Given the description of an element on the screen output the (x, y) to click on. 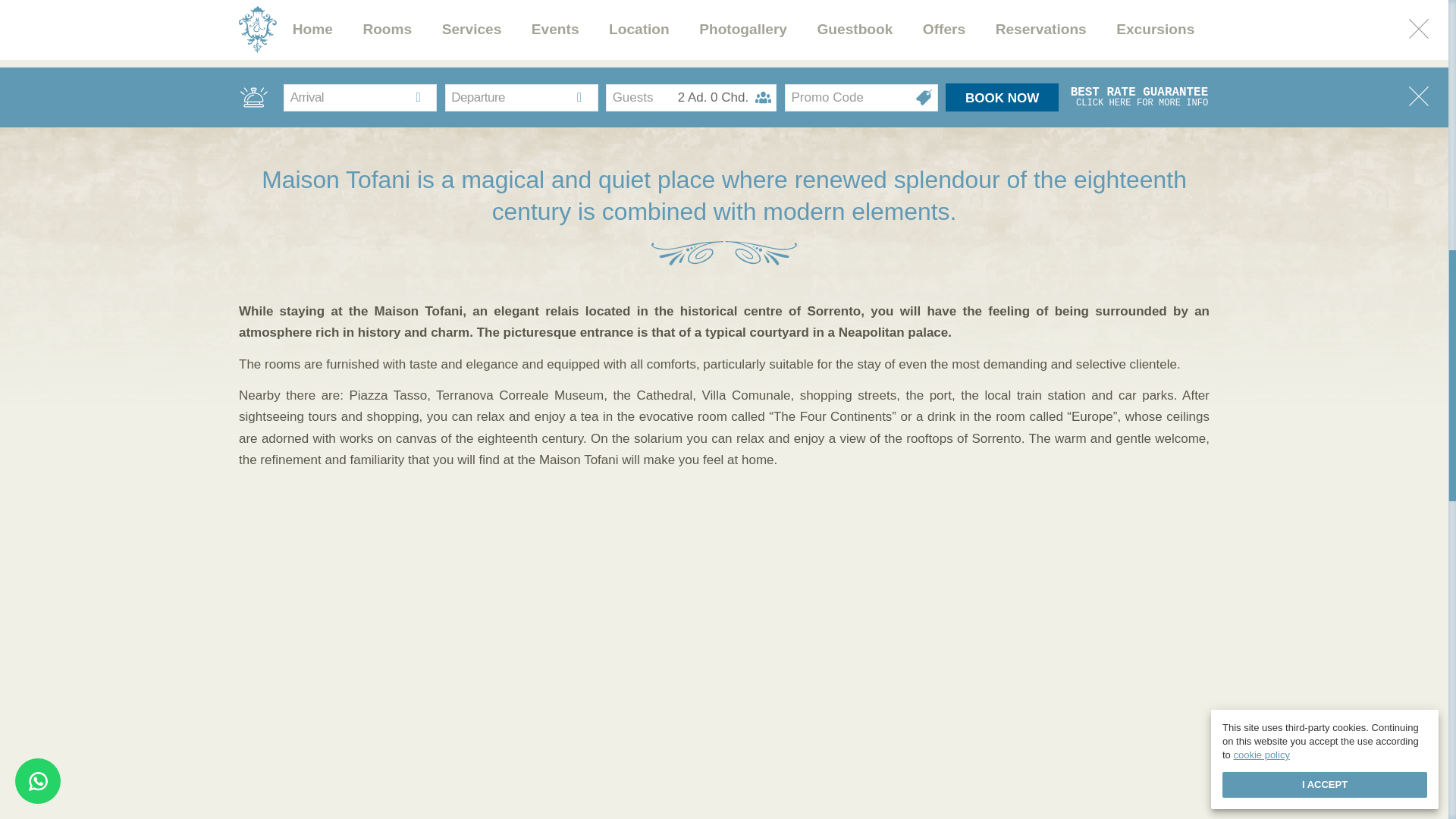
Services (471, 29)
Guestbook (854, 29)
Photogallery (743, 29)
Location (639, 29)
Home (1139, 97)
Reservations (312, 29)
Excursions (1040, 29)
BOOK NOW (1154, 29)
2 Ad. 0 Chd. (1001, 96)
Events (690, 97)
Offers (555, 29)
Rooms (943, 29)
